Given the description of an element on the screen output the (x, y) to click on. 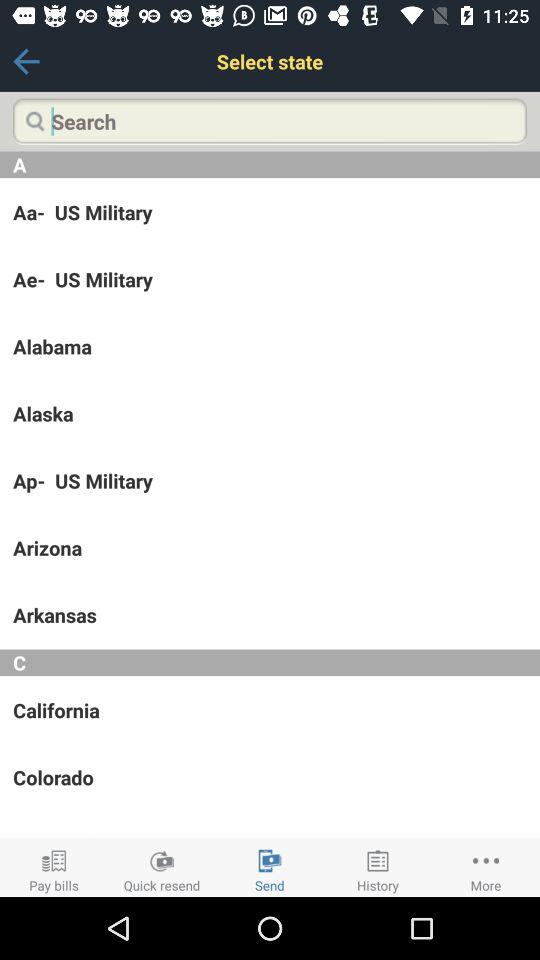
select the c item (270, 662)
